Given the description of an element on the screen output the (x, y) to click on. 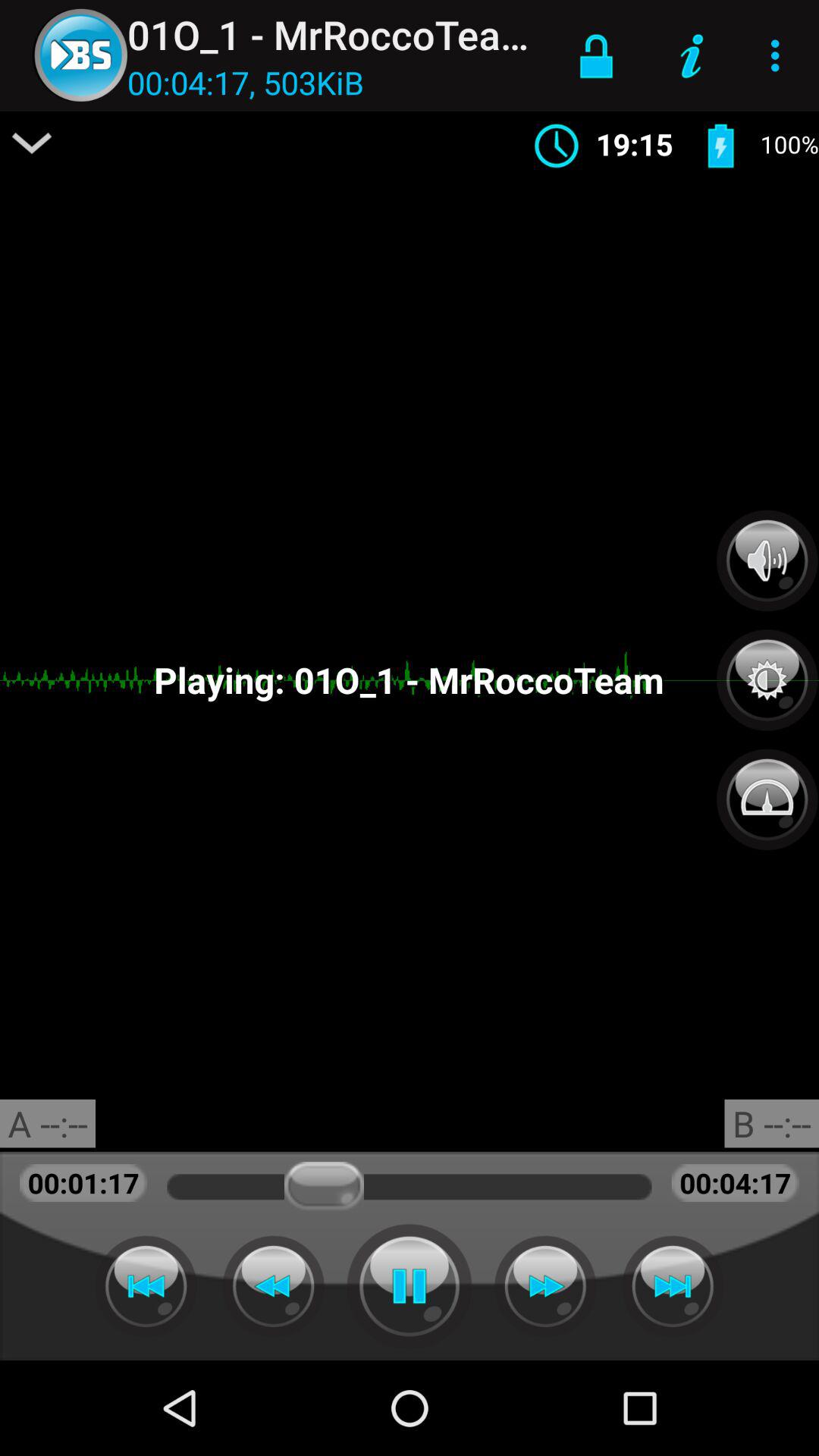
next (545, 1286)
